Given the description of an element on the screen output the (x, y) to click on. 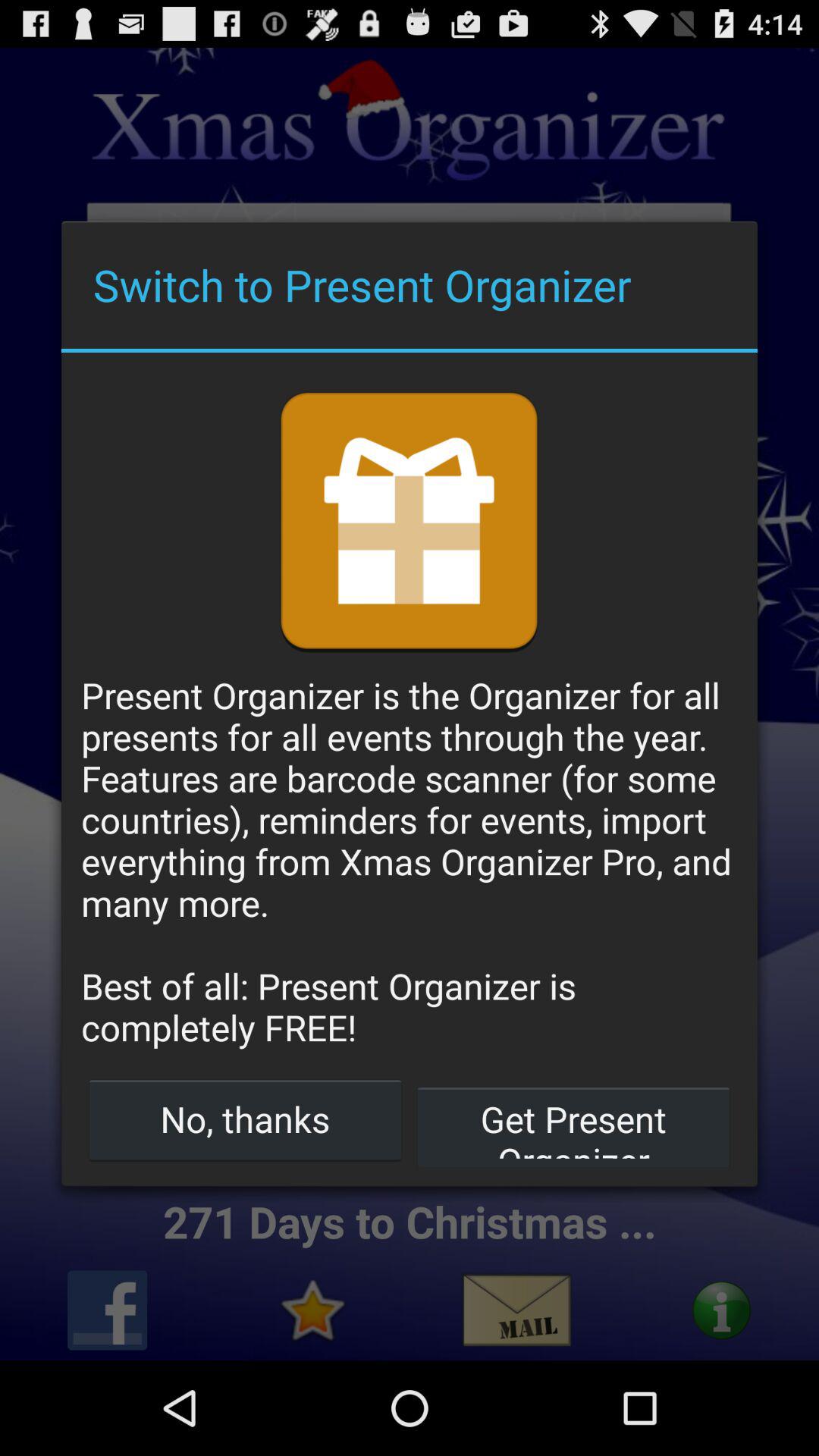
launch icon at the bottom left corner (245, 1119)
